Given the description of an element on the screen output the (x, y) to click on. 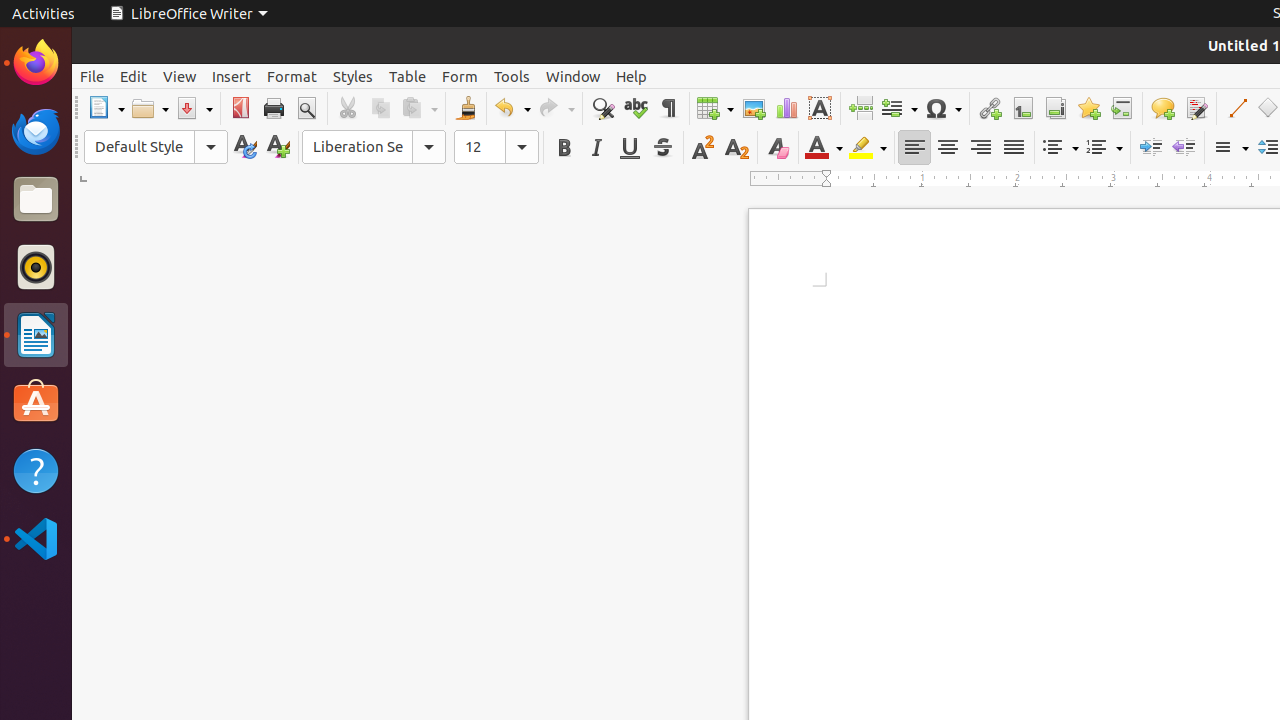
View Element type: menu (179, 76)
Ubuntu Software Element type: push-button (36, 402)
Styles Element type: menu (353, 76)
Font Size Element type: combo-box (496, 147)
Strikethrough Element type: toggle-button (662, 147)
